Given the description of an element on the screen output the (x, y) to click on. 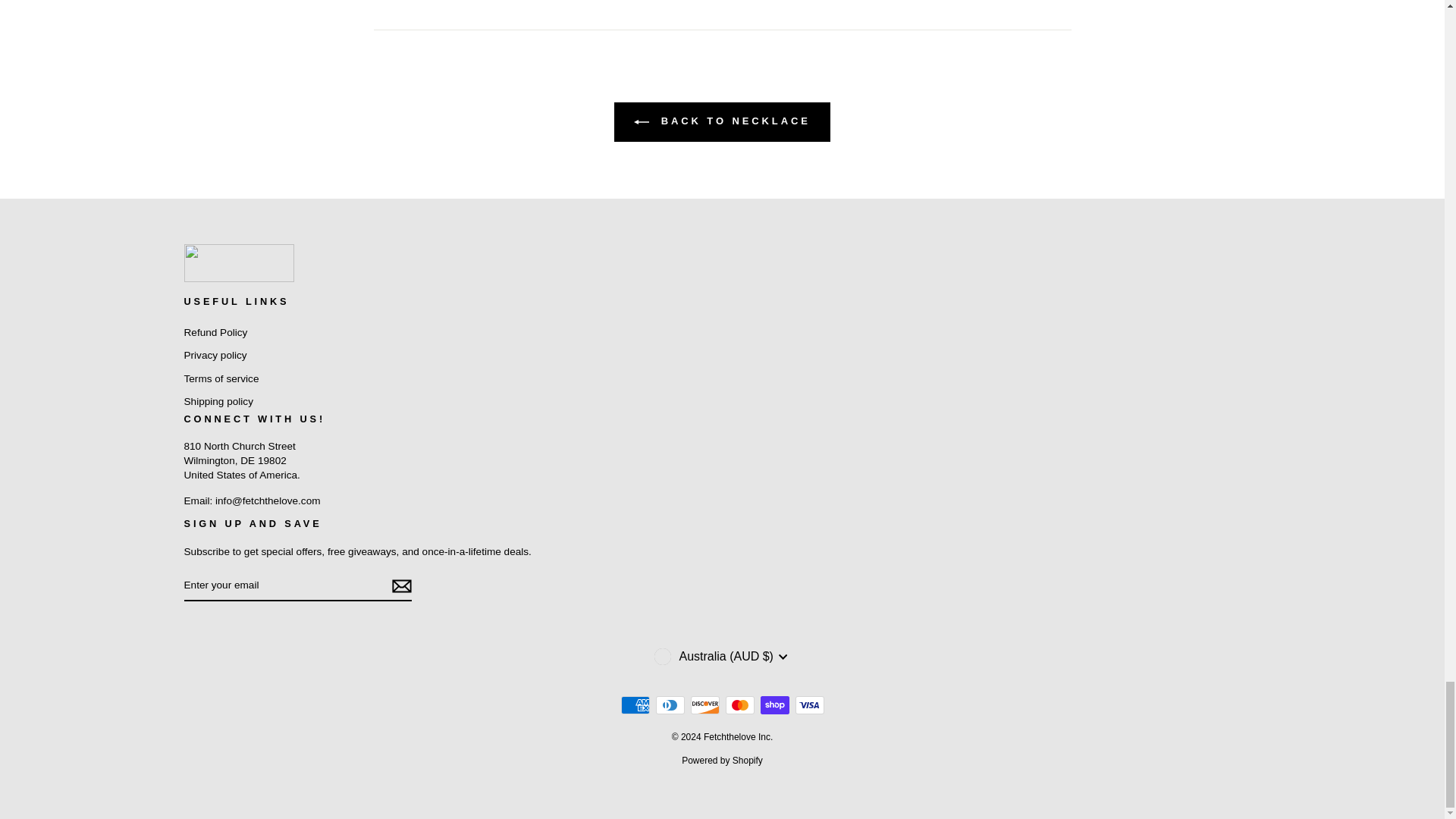
Mastercard (739, 705)
Visa (809, 705)
Discover (704, 705)
Shop Pay (774, 705)
American Express (634, 705)
Diners Club (669, 705)
